Given the description of an element on the screen output the (x, y) to click on. 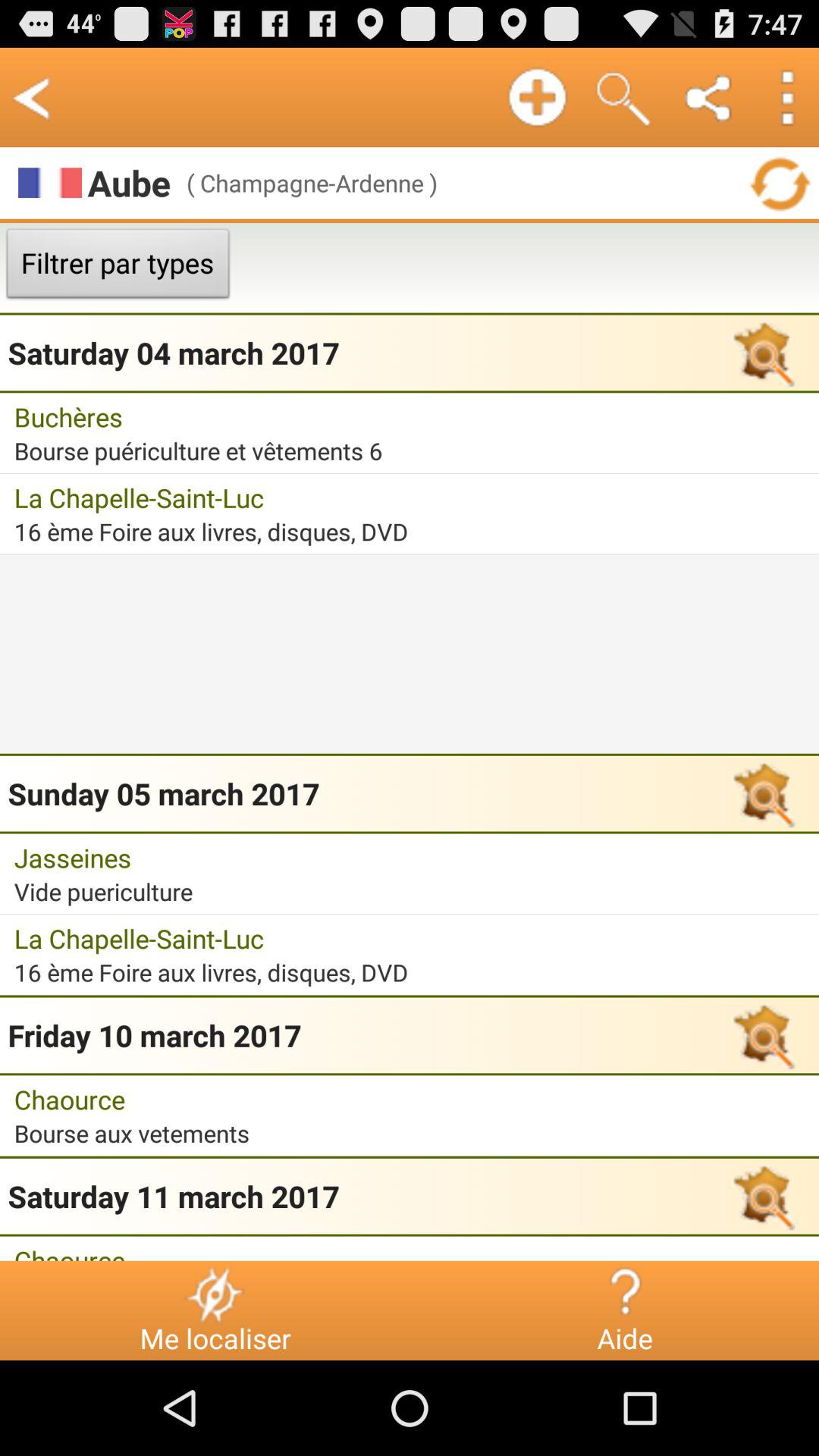
select the item next to chaource icon (215, 1293)
